Given the description of an element on the screen output the (x, y) to click on. 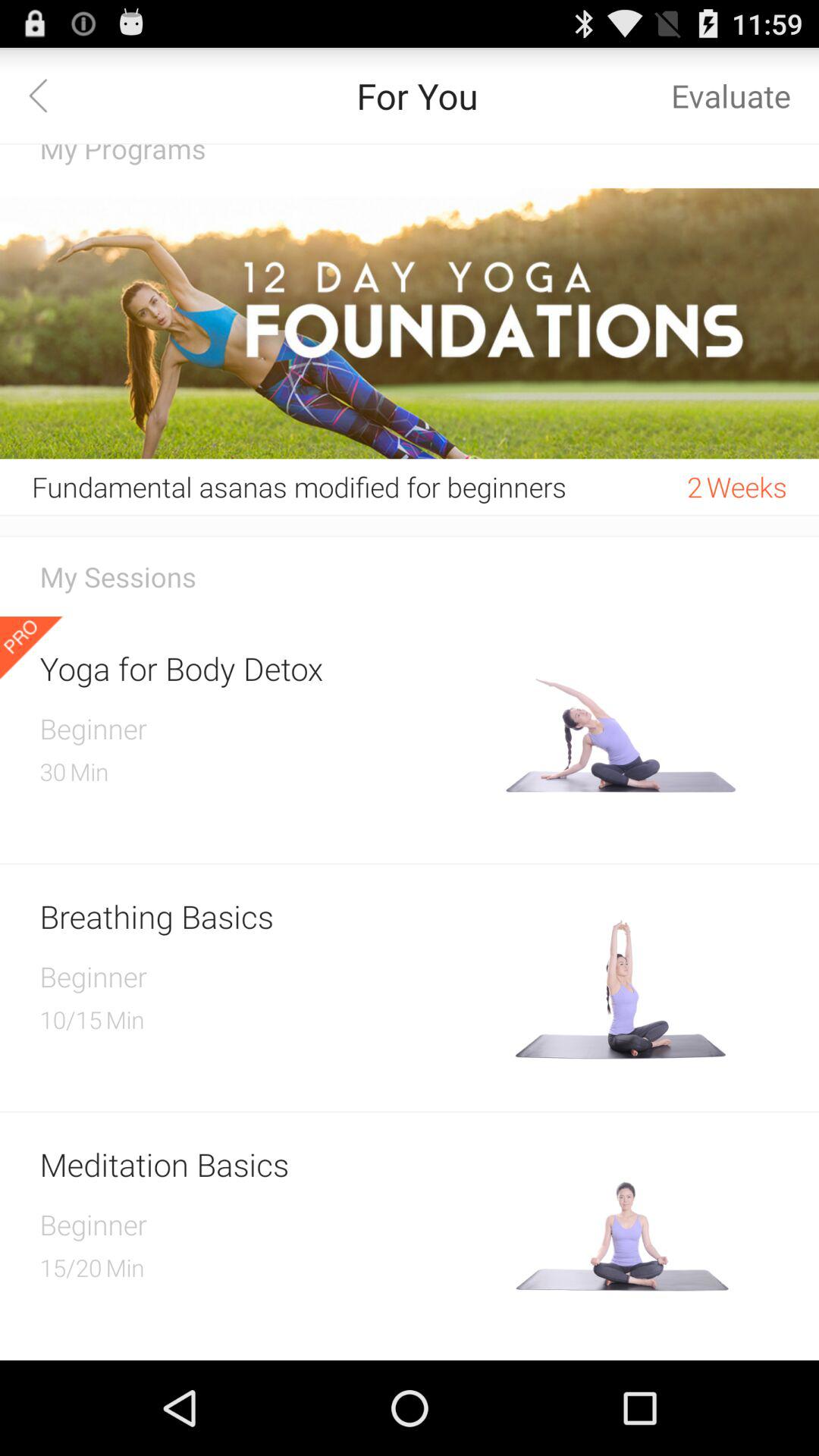
select item to the right of the 2 (744, 486)
